Given the description of an element on the screen output the (x, y) to click on. 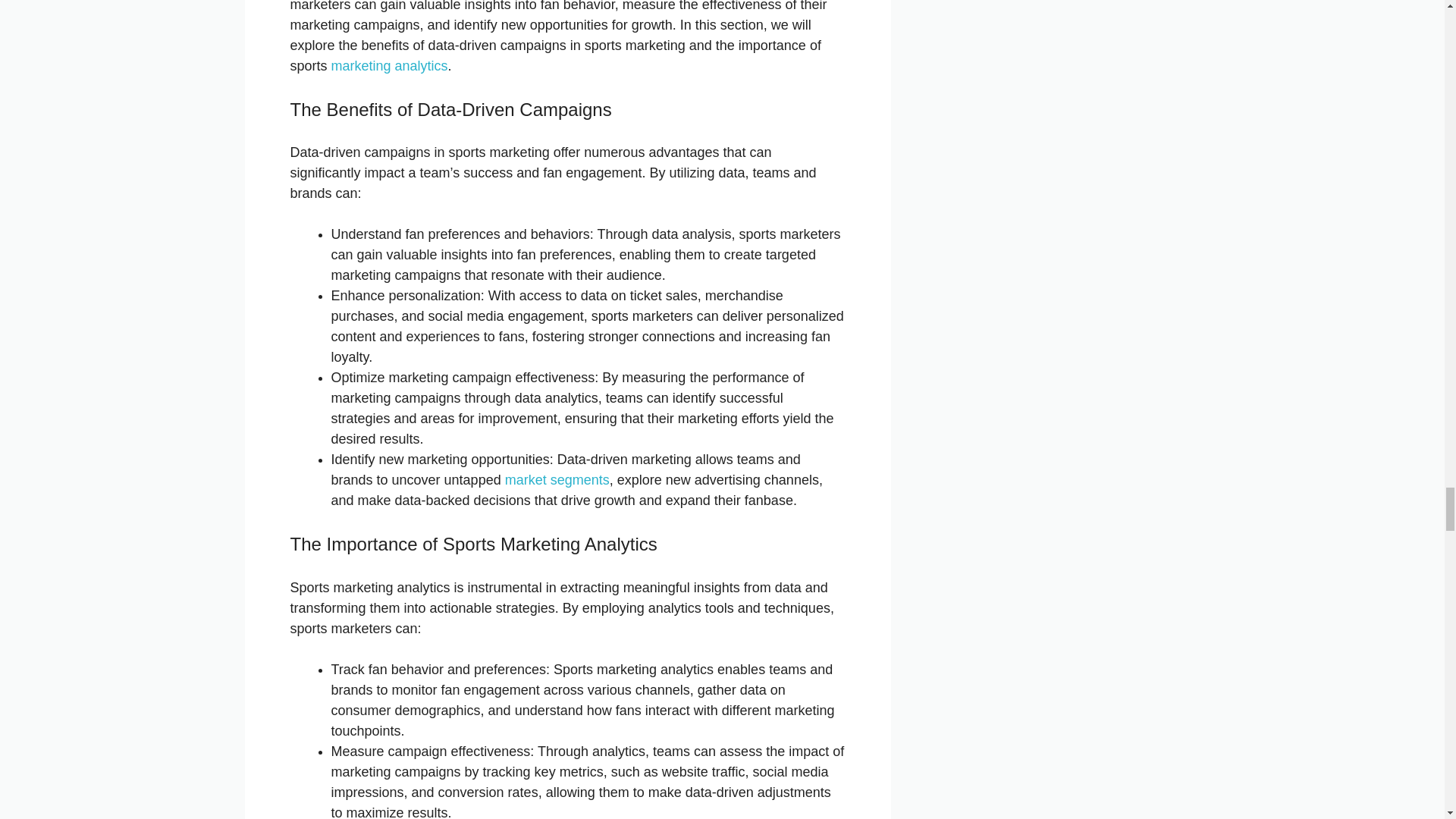
market segments (557, 479)
market segments (557, 479)
marketing analytics (389, 65)
marketing analytics (389, 65)
